Given the description of an element on the screen output the (x, y) to click on. 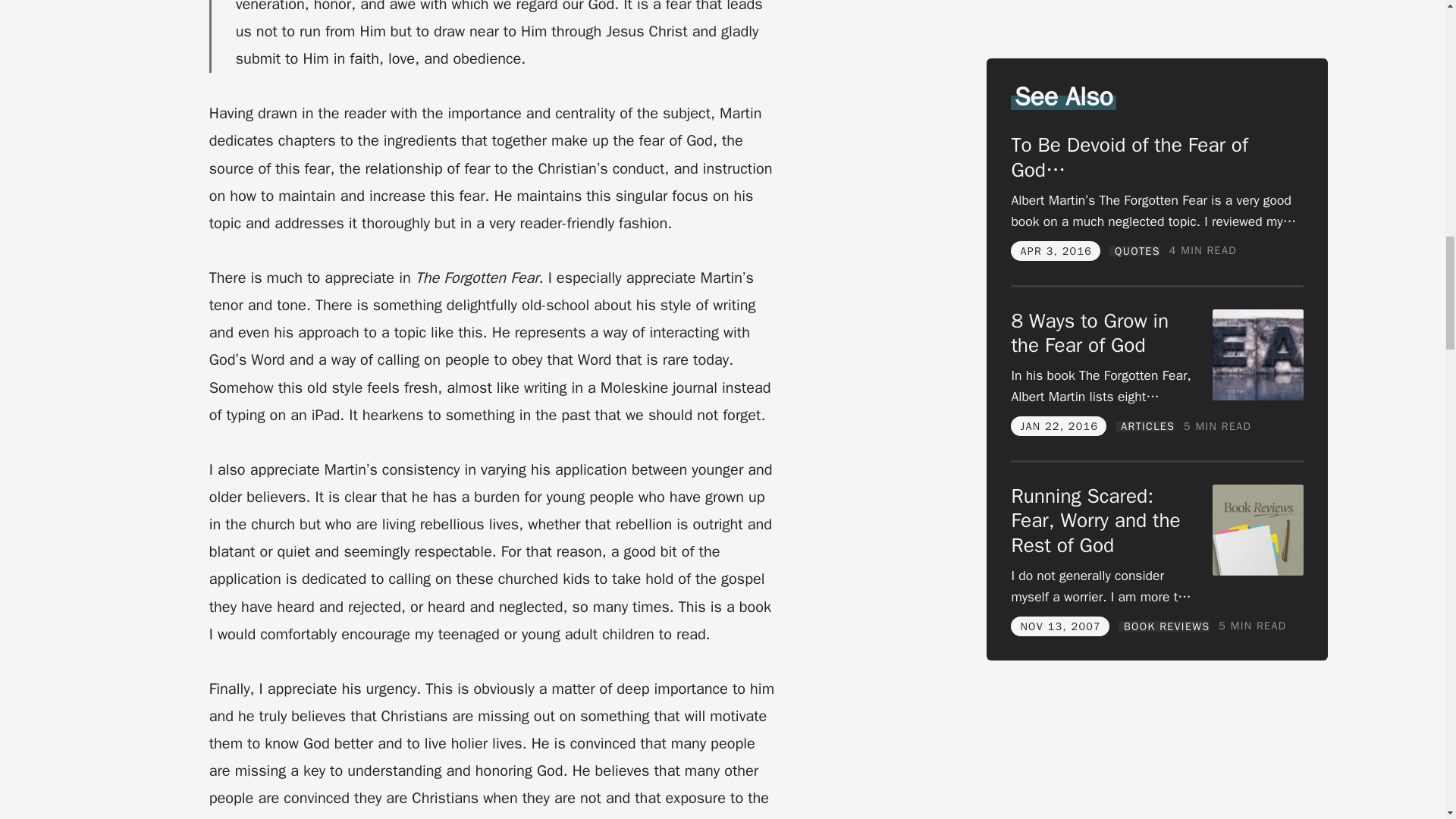
Nov 13, 2007 at 10:20 am (1060, 600)
Apr 3, 2016 at 7:01 am (1056, 224)
844 words (1216, 400)
862 words (1251, 599)
Jan 22, 2016 at 8:01 am (1058, 400)
549 words (1202, 224)
